Given the description of an element on the screen output the (x, y) to click on. 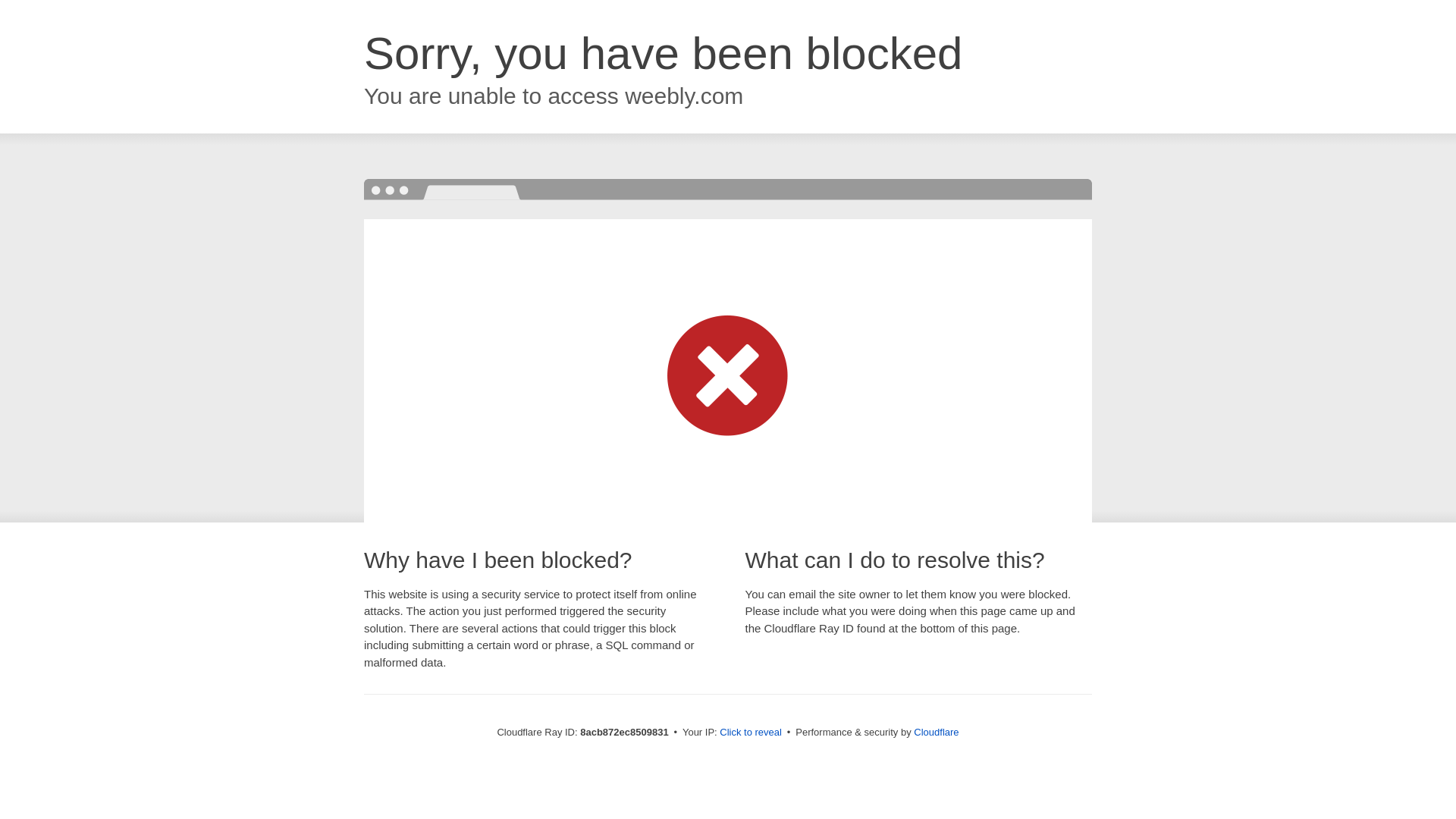
Click to reveal (750, 732)
Cloudflare (936, 731)
